Given the description of an element on the screen output the (x, y) to click on. 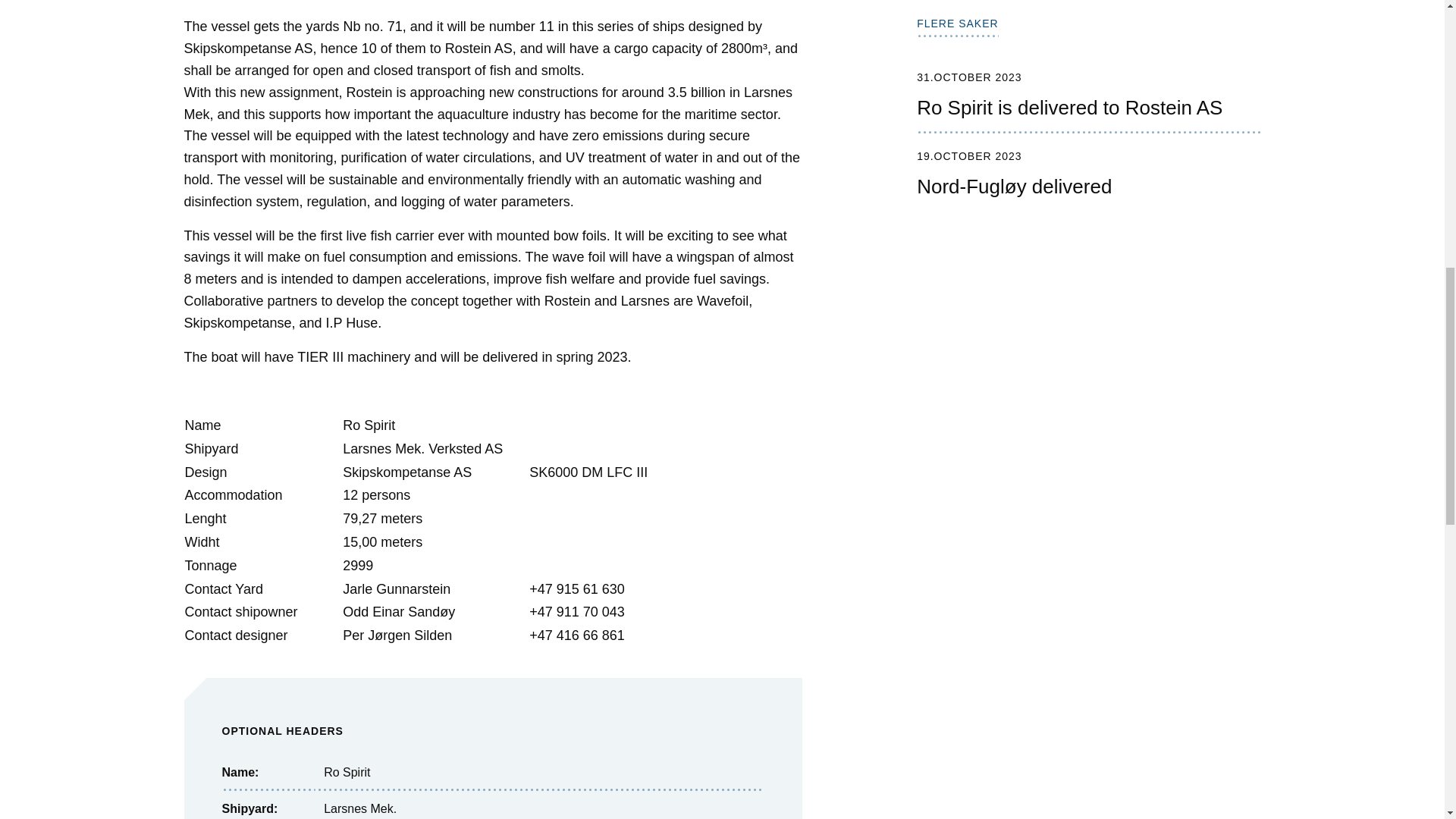
FLERE SAKER (957, 26)
